Given the description of an element on the screen output the (x, y) to click on. 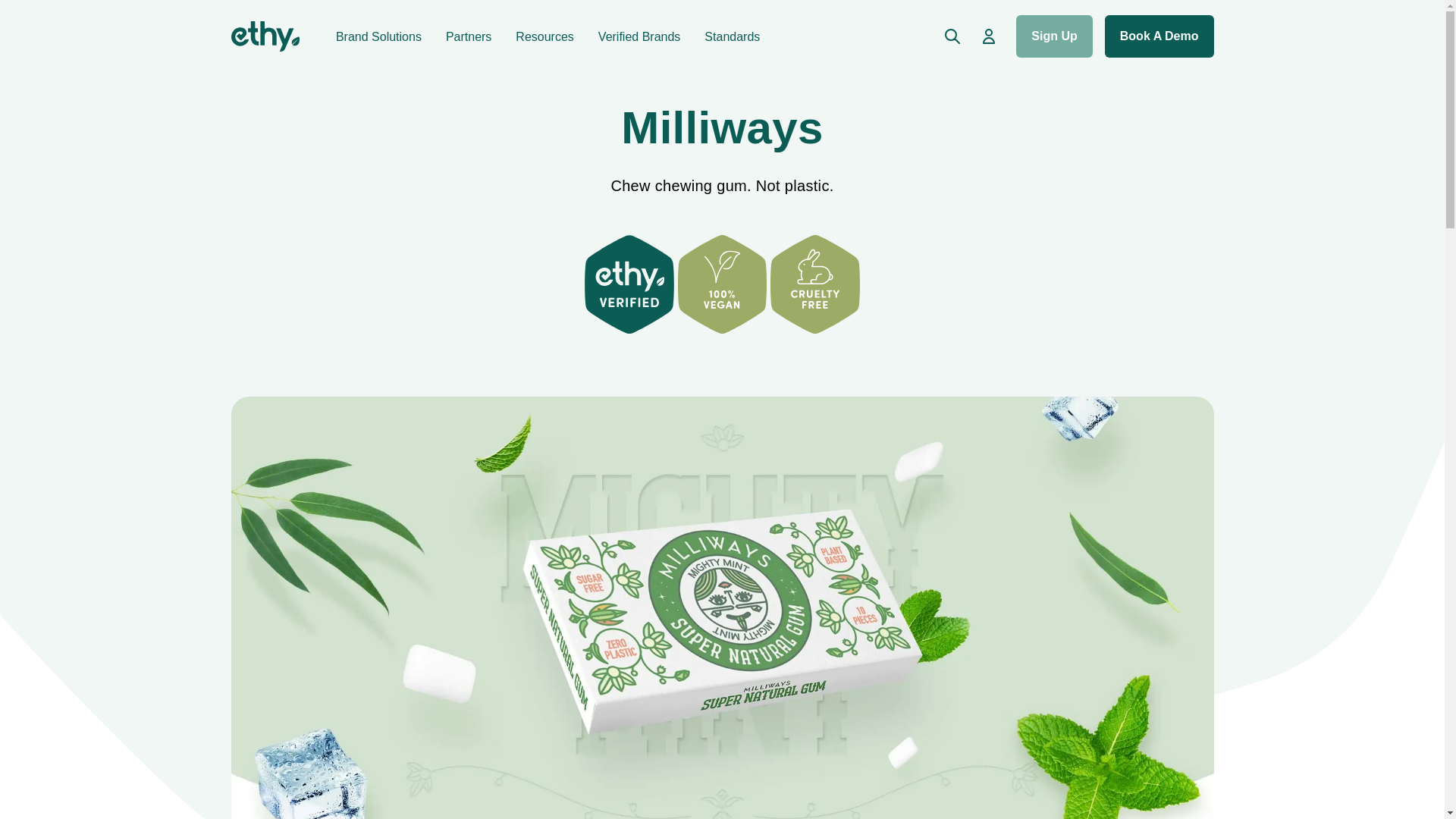
ethy (264, 36)
Account (989, 36)
Book A Demo (1159, 36)
Sign Up (1054, 36)
Verified Brands (639, 36)
Search (952, 36)
Brand Solutions (379, 36)
